Given the description of an element on the screen output the (x, y) to click on. 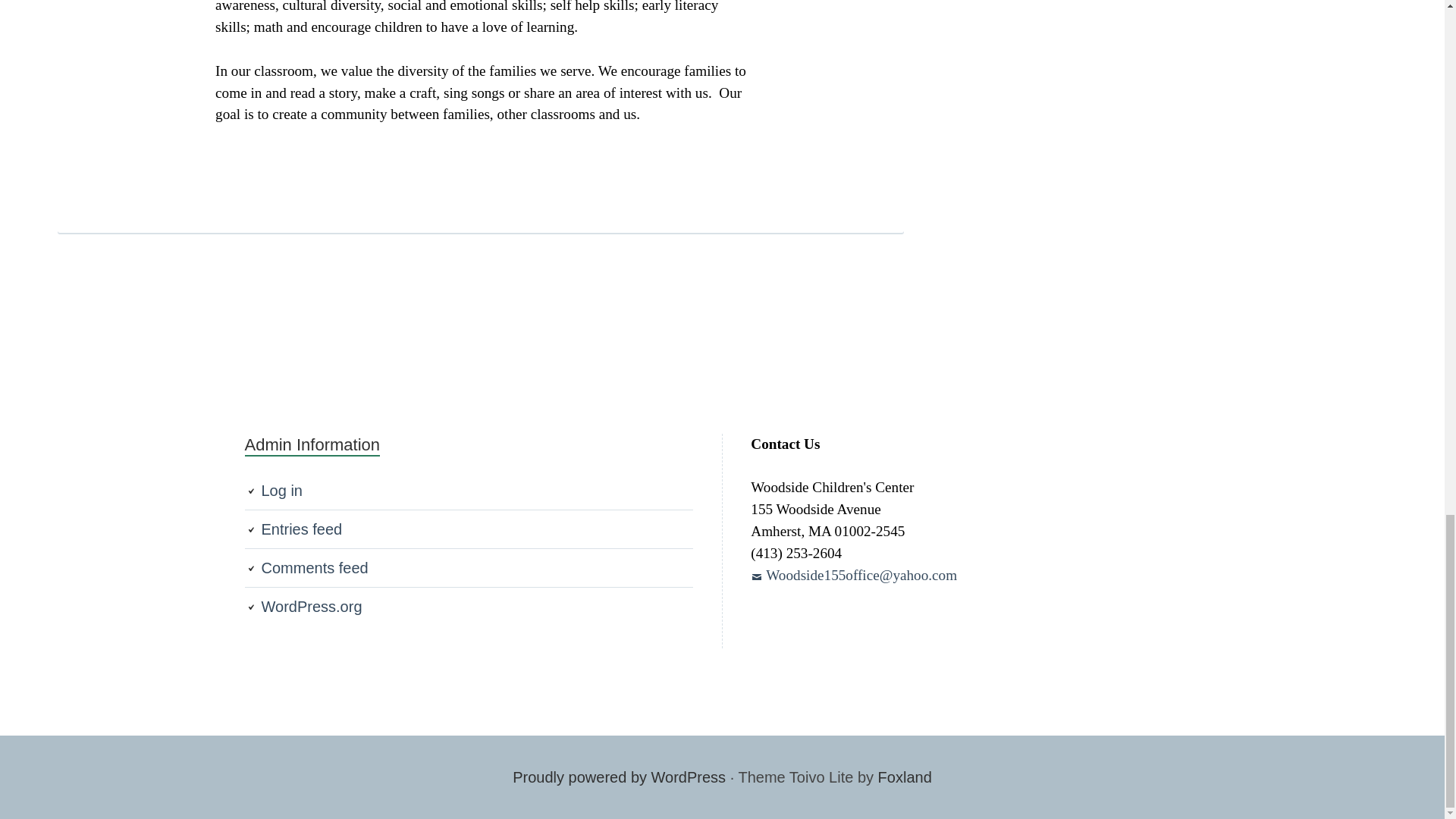
Entries feed (301, 528)
Log in (281, 490)
Comments feed (314, 567)
Foxland (904, 777)
Proudly powered by WordPress (618, 777)
WordPress.org (310, 606)
